Given the description of an element on the screen output the (x, y) to click on. 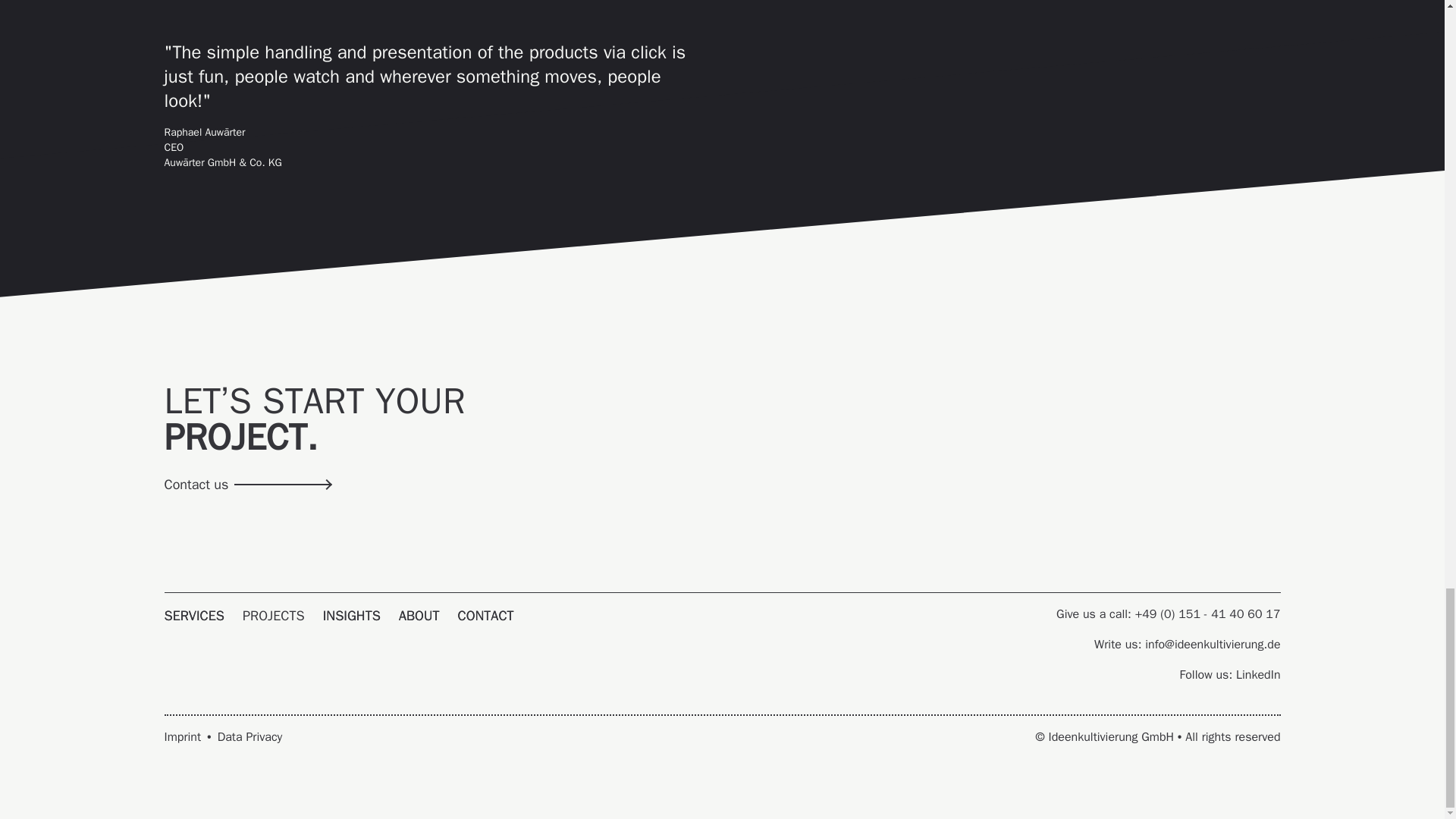
Imprint (181, 736)
CONTACT (485, 615)
PROJECTS (273, 615)
INSIGHTS (351, 615)
Contact us (243, 484)
Data Privacy (249, 736)
LinkedIn (1257, 674)
SERVICES (193, 615)
ABOUT (418, 615)
